Given the description of an element on the screen output the (x, y) to click on. 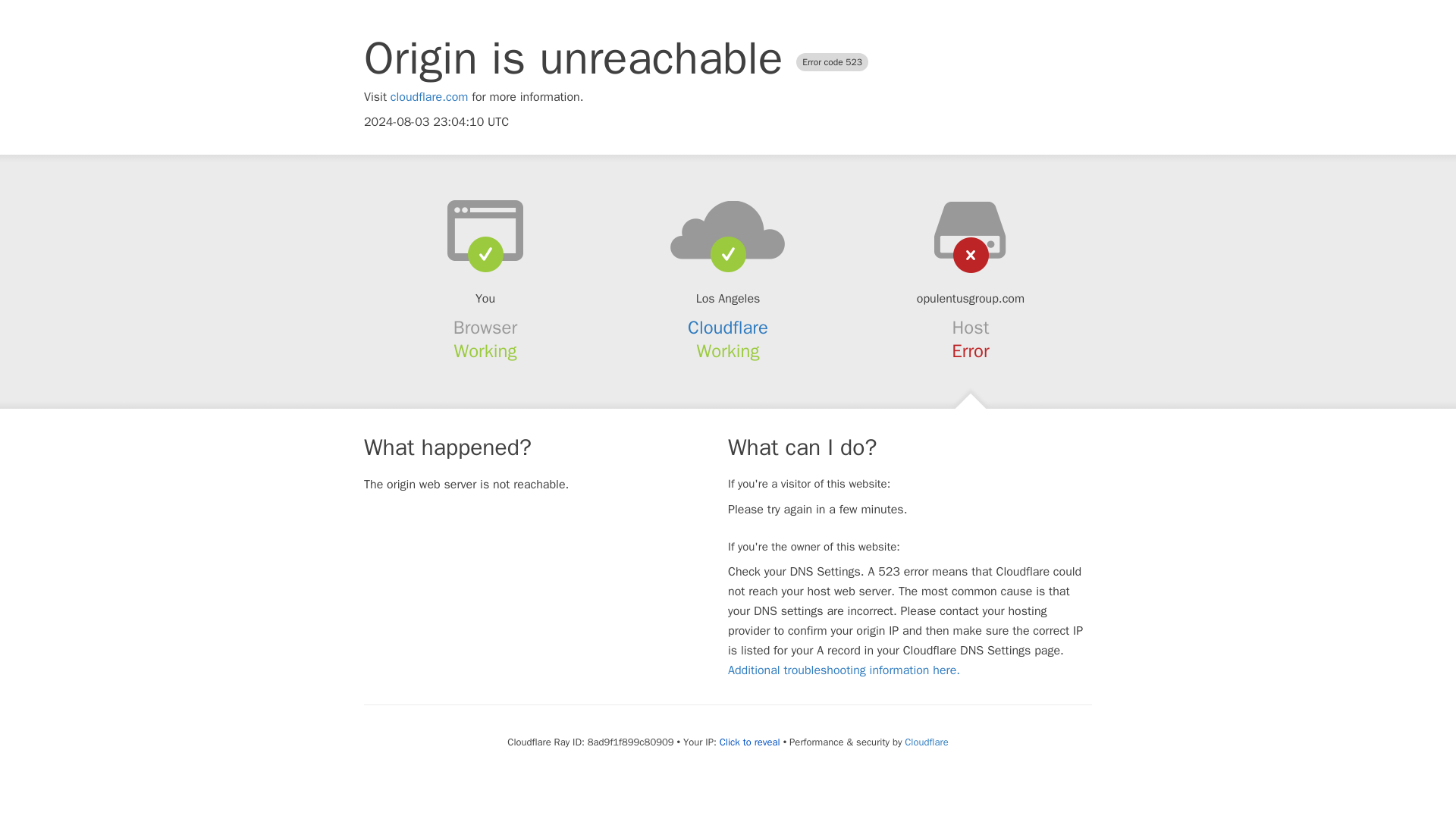
Additional troubleshooting information here. (843, 670)
Click to reveal (749, 742)
cloudflare.com (429, 96)
Cloudflare (925, 741)
Cloudflare (727, 327)
